Given the description of an element on the screen output the (x, y) to click on. 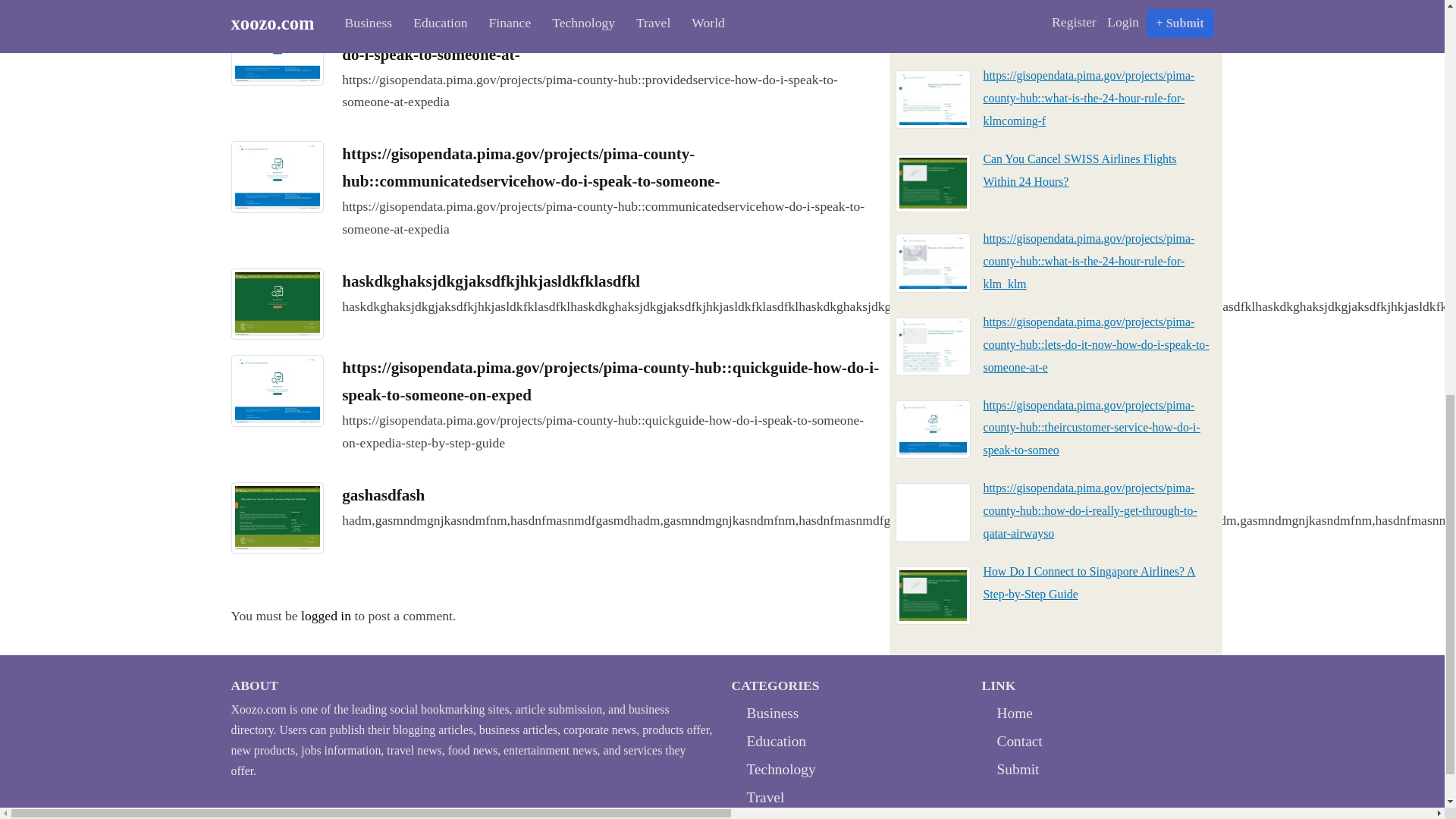
logged in (325, 615)
haskdkghaksjdkgjaksdfkjhkjasldkfklasdfkl (491, 280)
haskdkghaksjdkgjaksdfkjhkjasldkfklasdfkl (491, 280)
haskdkghaksjdkgjaksdfkjhkjasldkfklasdfkl (276, 302)
gashasdfash (383, 495)
